Given the description of an element on the screen output the (x, y) to click on. 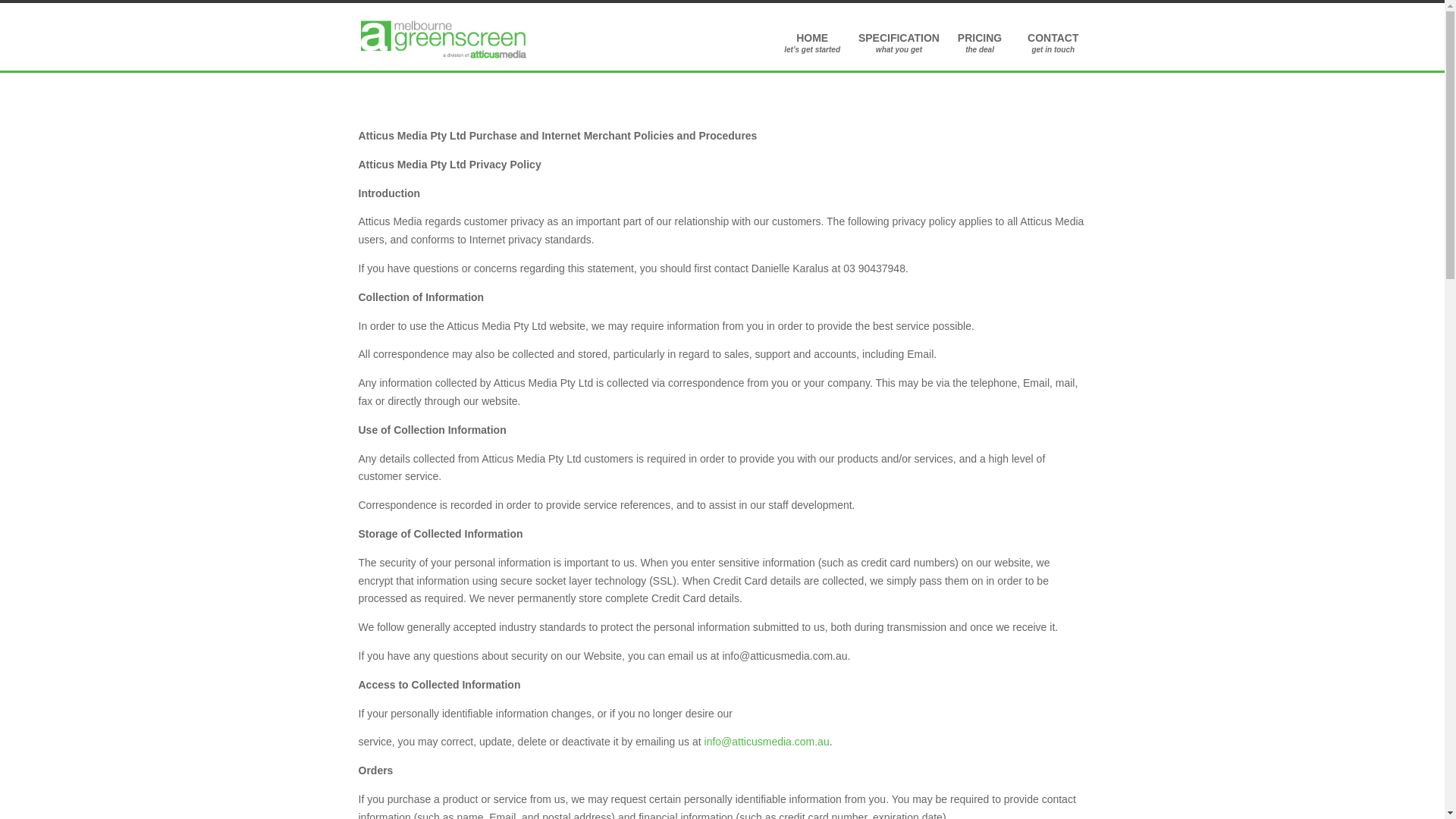
SPECIFICATION
what you get Element type: text (898, 42)
CONTACT
get in touch Element type: text (1052, 42)
PRICING
the deal Element type: text (983, 42)
info@atticusmedia.com.au Element type: text (766, 741)
